Given the description of an element on the screen output the (x, y) to click on. 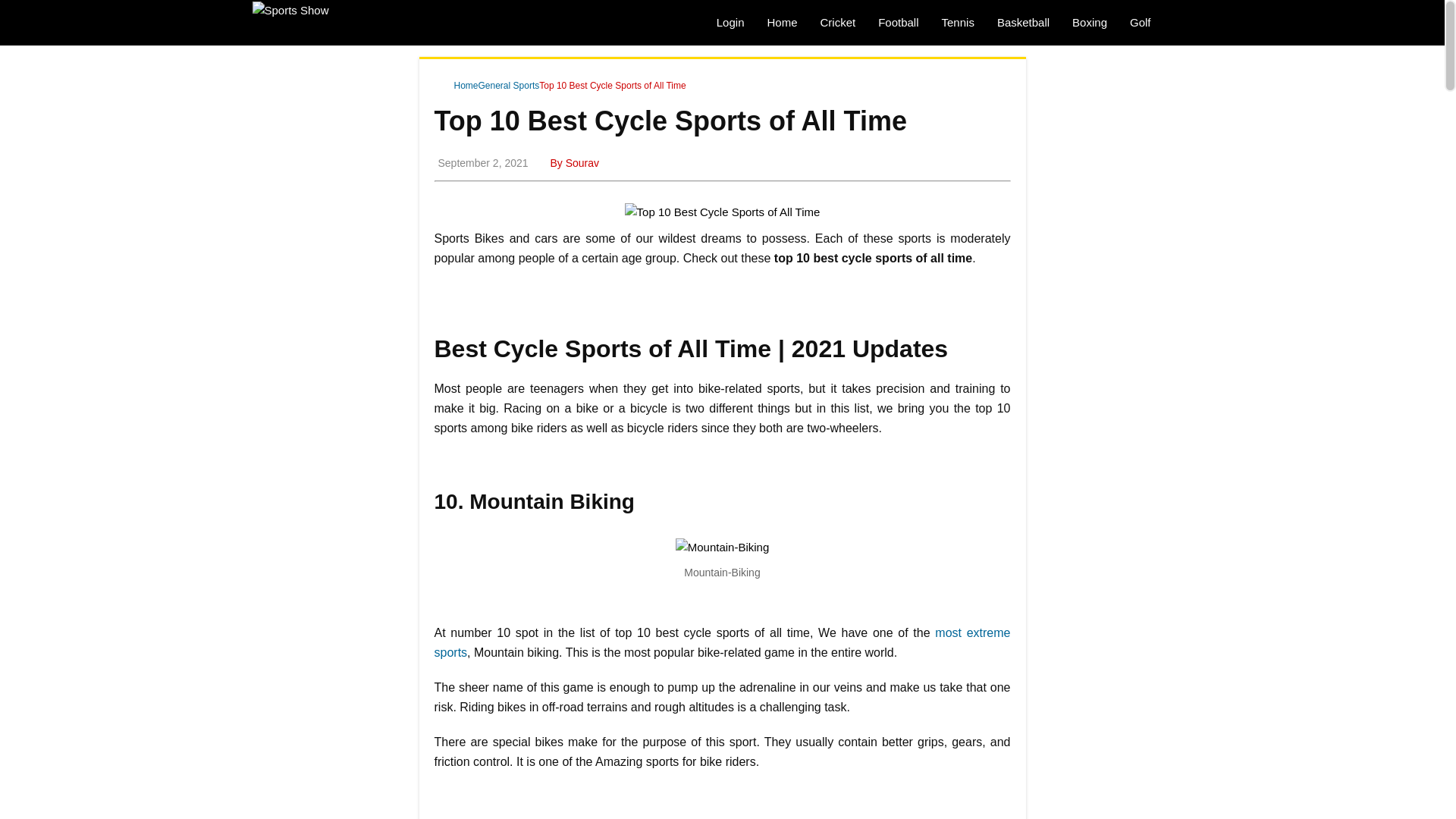
Basketball (1023, 22)
By Sourav (572, 162)
Boxing (1089, 22)
Football (898, 22)
Top 10 Best Cycle Sports of All Time (611, 85)
most extreme sports (721, 642)
Cricket (837, 22)
Home (459, 85)
Tennis (957, 22)
Login (729, 22)
